Given the description of an element on the screen output the (x, y) to click on. 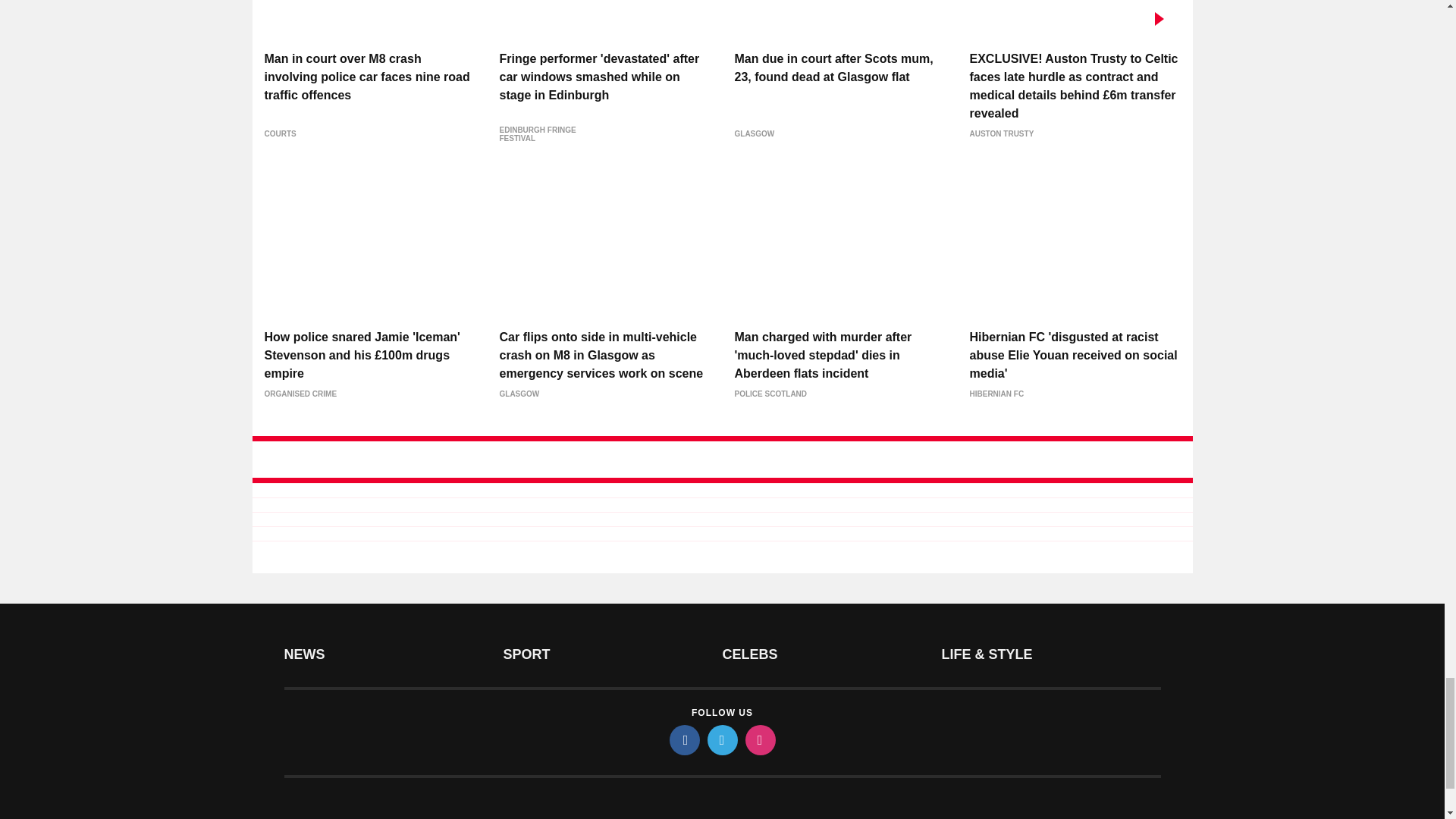
facebook (683, 739)
twitter (721, 739)
instagram (759, 739)
